Given the description of an element on the screen output the (x, y) to click on. 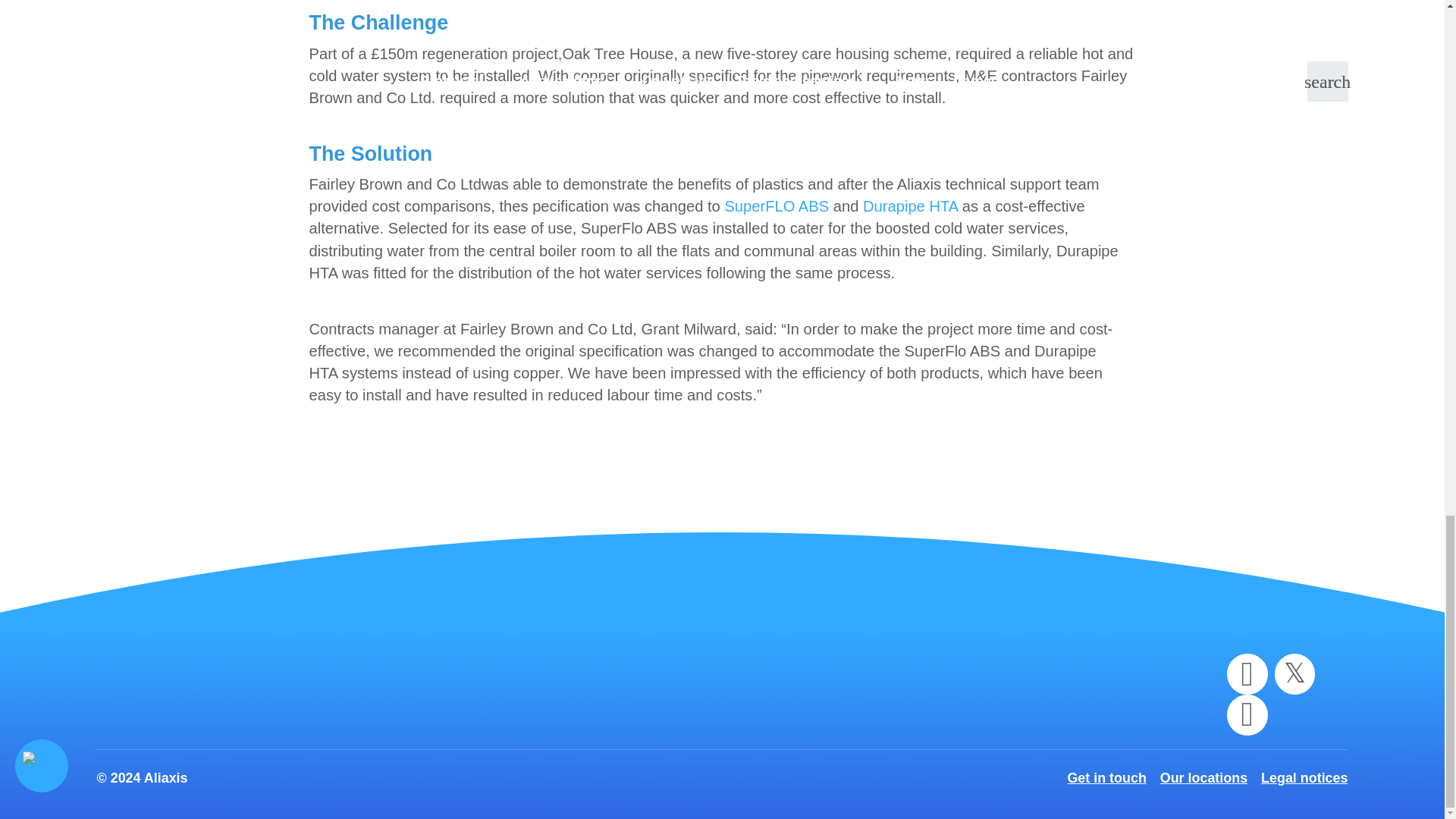
Legal notices (1304, 777)
Get in touch  (1106, 777)
Our locations (1203, 777)
